Given the description of an element on the screen output the (x, y) to click on. 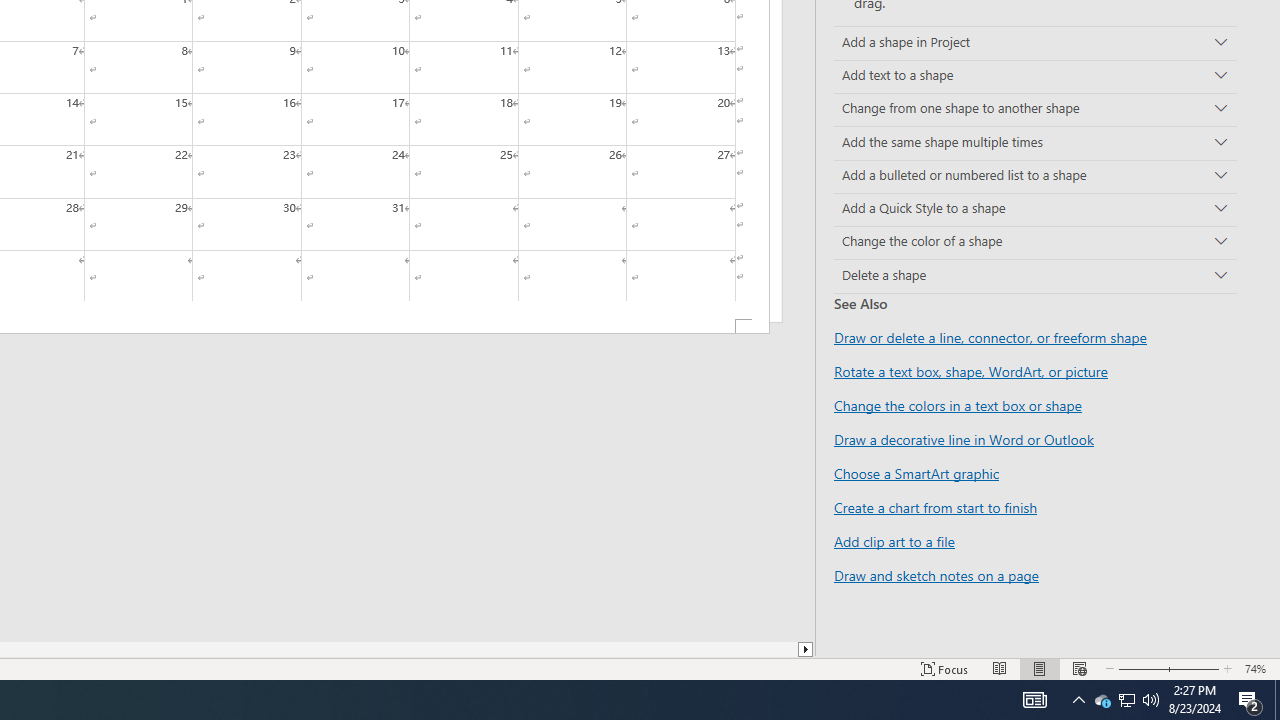
Add a bulleted or numbered list to a shape (1035, 176)
Draw and sketch notes on a page (936, 574)
Web Layout (1079, 668)
Change the colors in a text box or shape (957, 405)
Focus  (944, 668)
Add the same shape multiple times (1035, 142)
Add a shape in Project (1035, 43)
Draw or delete a line, connector, or freeform shape (990, 337)
Add clip art to a file (894, 541)
Rotate a text box, shape, WordArt, or picture (971, 371)
Create a chart from start to finish (935, 507)
